Given the description of an element on the screen output the (x, y) to click on. 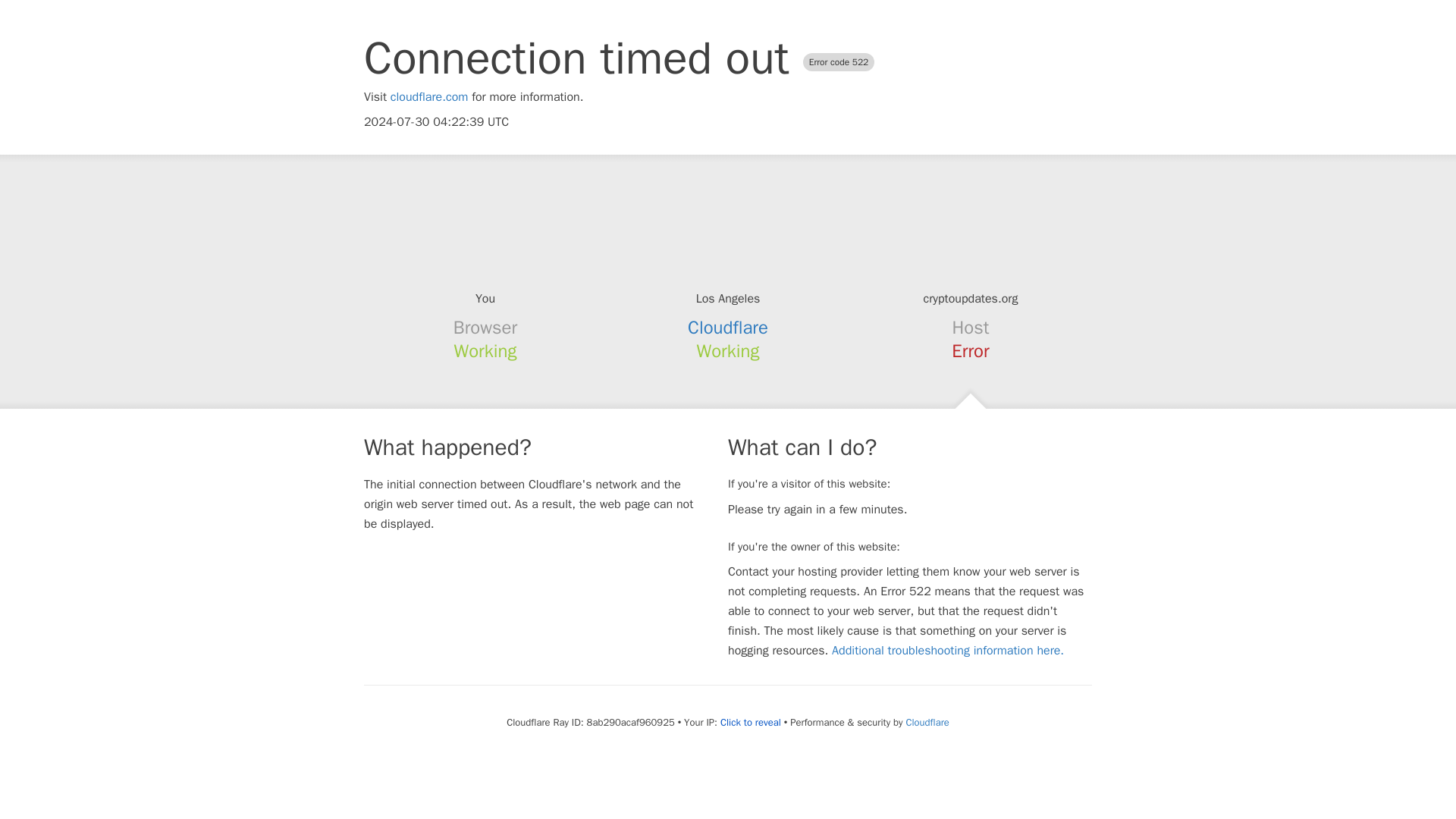
Cloudflare (727, 327)
Click to reveal (750, 722)
Additional troubleshooting information here. (947, 650)
Cloudflare (927, 721)
cloudflare.com (429, 96)
